Given the description of an element on the screen output the (x, y) to click on. 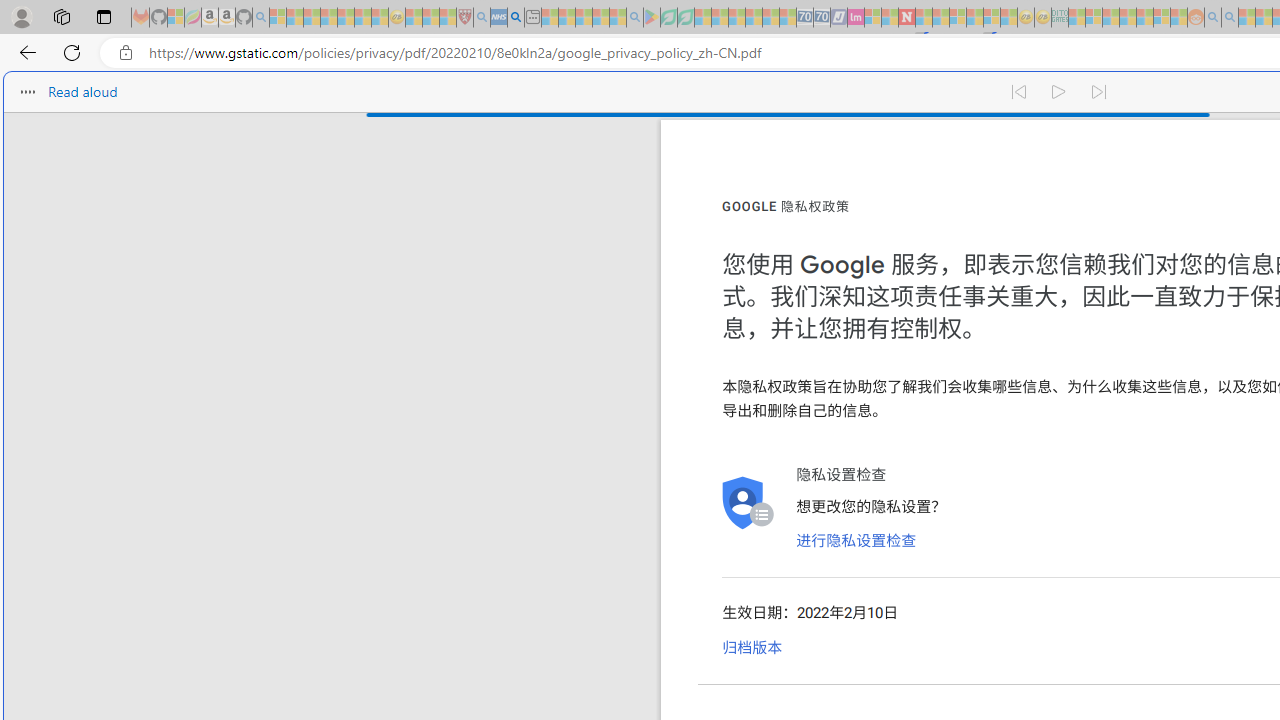
Recipes - MSN - Sleeping (413, 17)
The Weather Channel - MSN - Sleeping (311, 17)
Read next paragraph (1099, 87)
Terms of Use Agreement - Sleeping (668, 17)
New Report Confirms 2023 Was Record Hot | Watch - Sleeping (345, 17)
Continue to read aloud (Ctrl+Shift+U) (1059, 87)
